Given the description of an element on the screen output the (x, y) to click on. 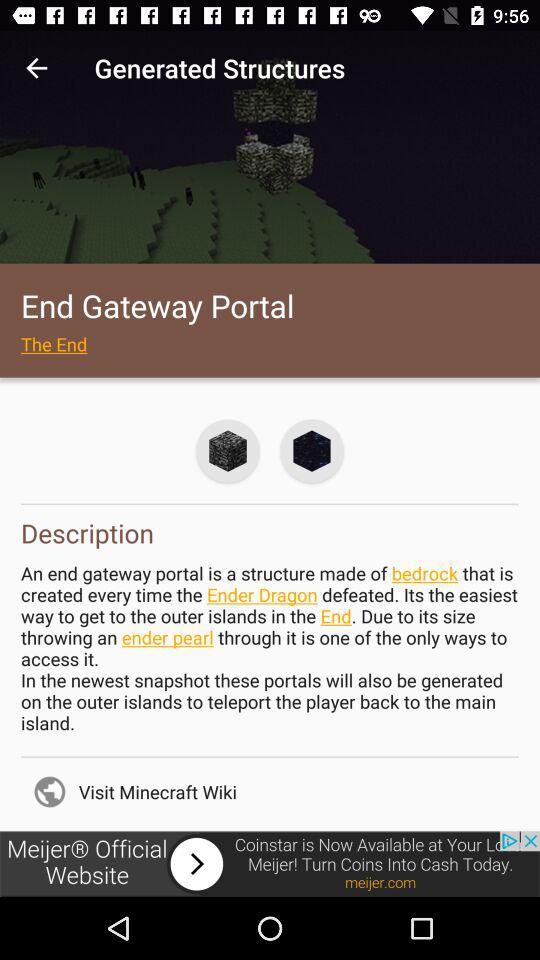
click the add (270, 864)
